Given the description of an element on the screen output the (x, y) to click on. 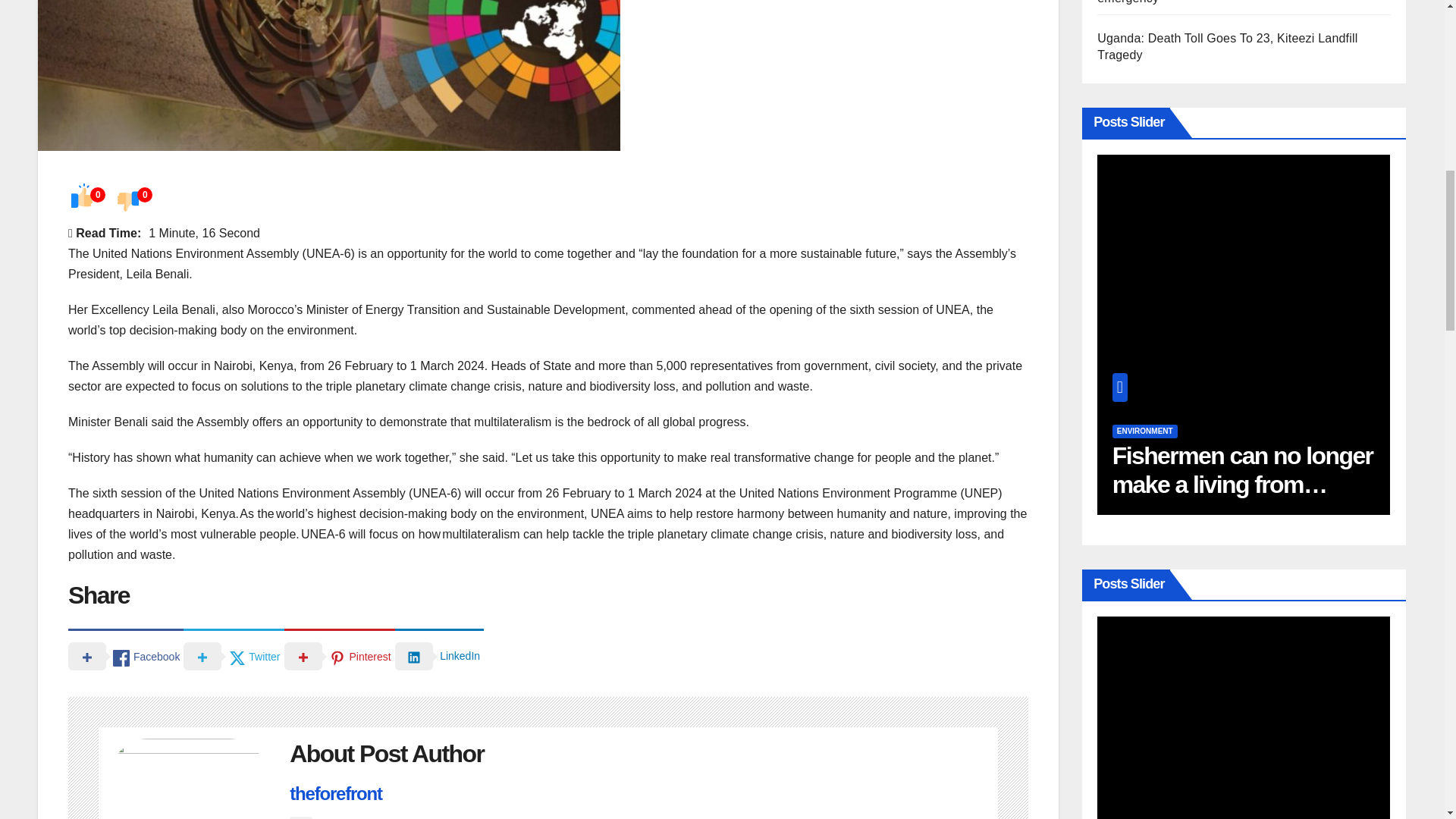
Pinterest (338, 654)
Twitter (233, 654)
theforefront (335, 792)
Facebook (125, 654)
LinkedIn (438, 654)
